Given the description of an element on the screen output the (x, y) to click on. 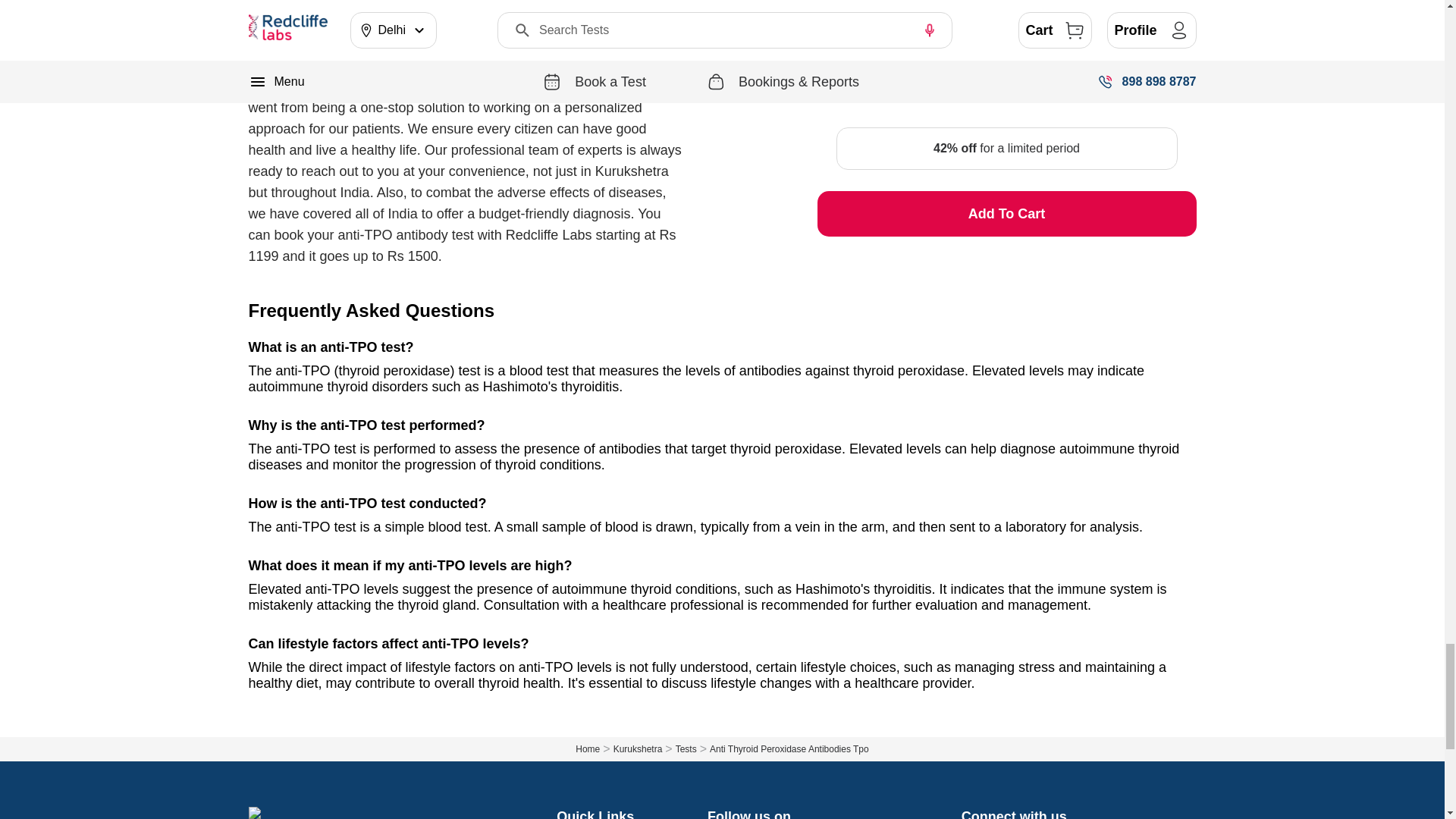
Anti Thyroid Peroxidase Antibodies Tpo (789, 748)
Home (593, 748)
Kurukshetra (643, 748)
Tests (692, 748)
